Given the description of an element on the screen output the (x, y) to click on. 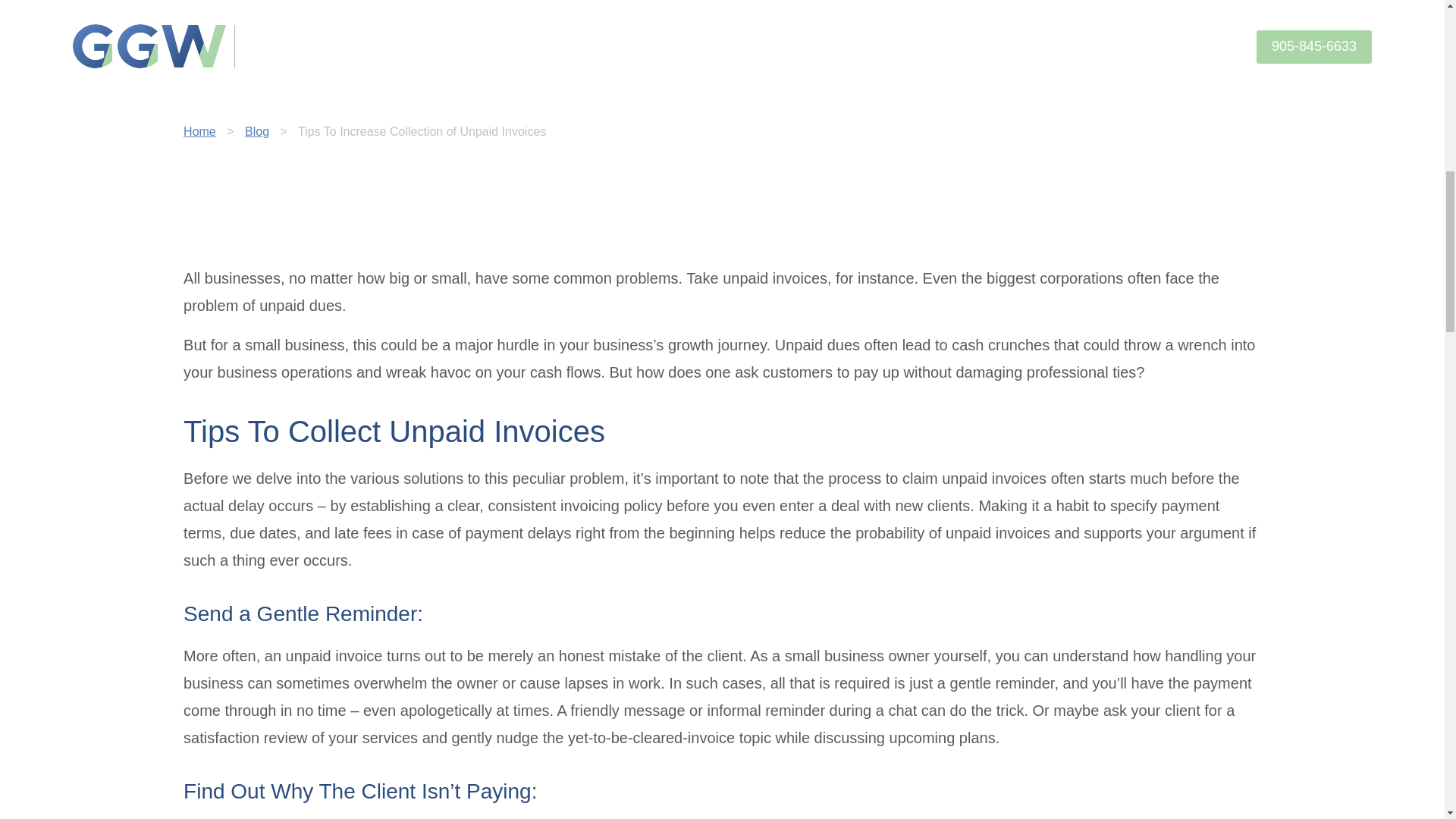
Home (199, 131)
Blog (256, 131)
